Given the description of an element on the screen output the (x, y) to click on. 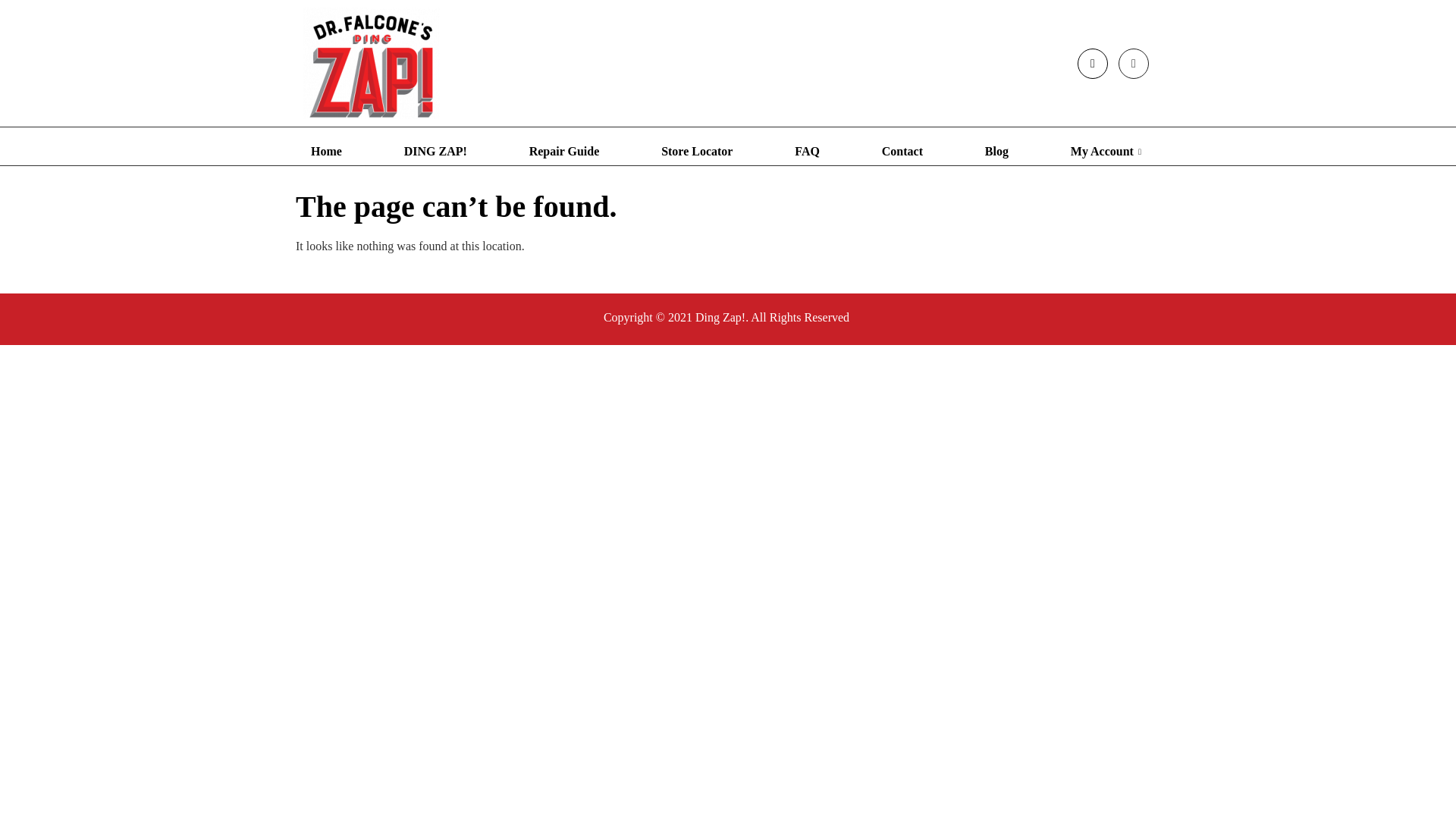
Home (325, 151)
Contact (901, 151)
My Account (1107, 151)
Store Locator (697, 151)
Repair Guide (563, 151)
Blog (996, 151)
DING ZAP! (434, 151)
FAQ (806, 151)
